Given the description of an element on the screen output the (x, y) to click on. 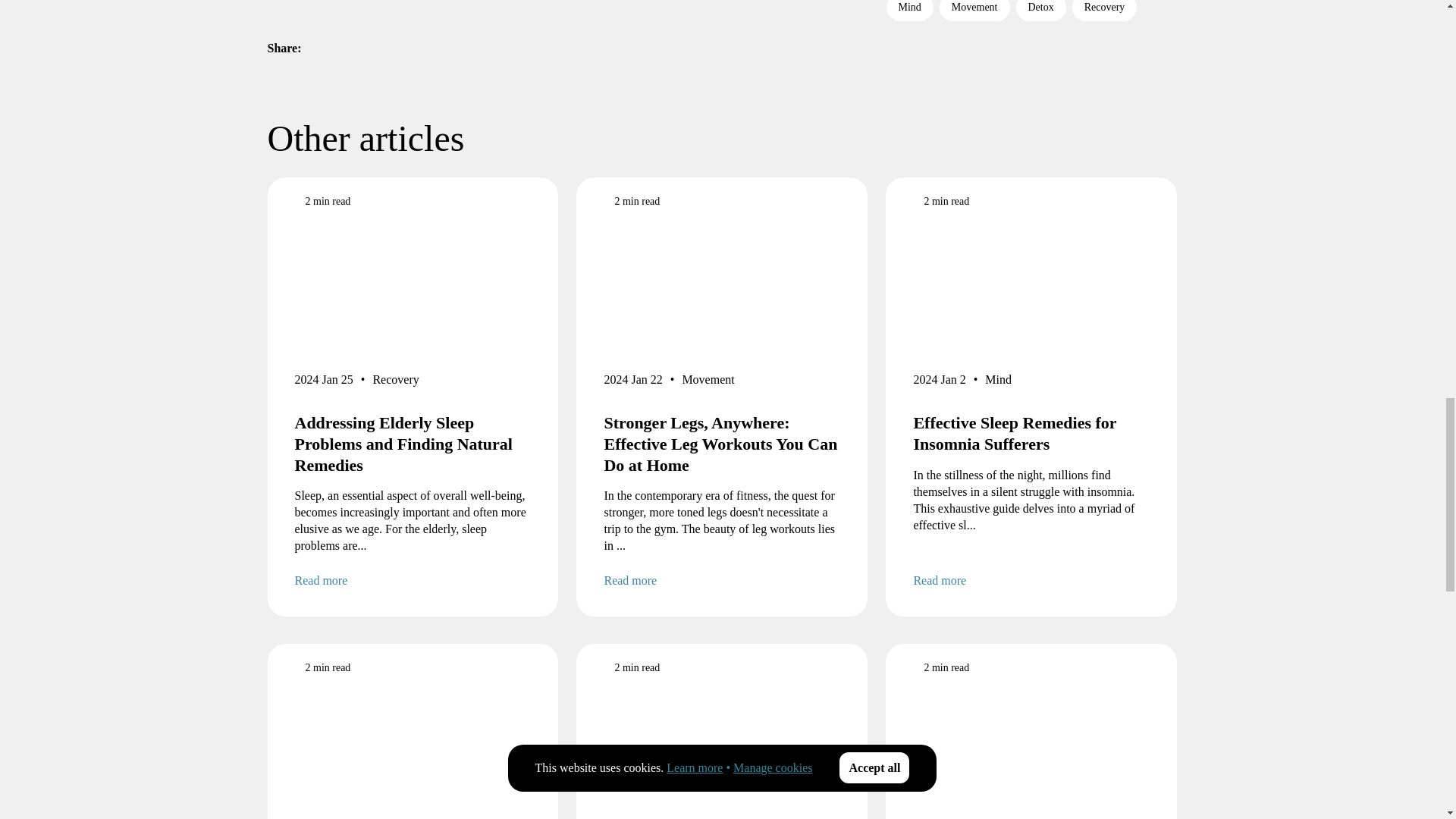
Recovery (395, 382)
Read more (722, 580)
Read more (1031, 580)
Read more (412, 580)
Effective Sleep Remedies for Insomnia Sufferers (1031, 433)
Movement (707, 382)
Mind (998, 382)
